Given the description of an element on the screen output the (x, y) to click on. 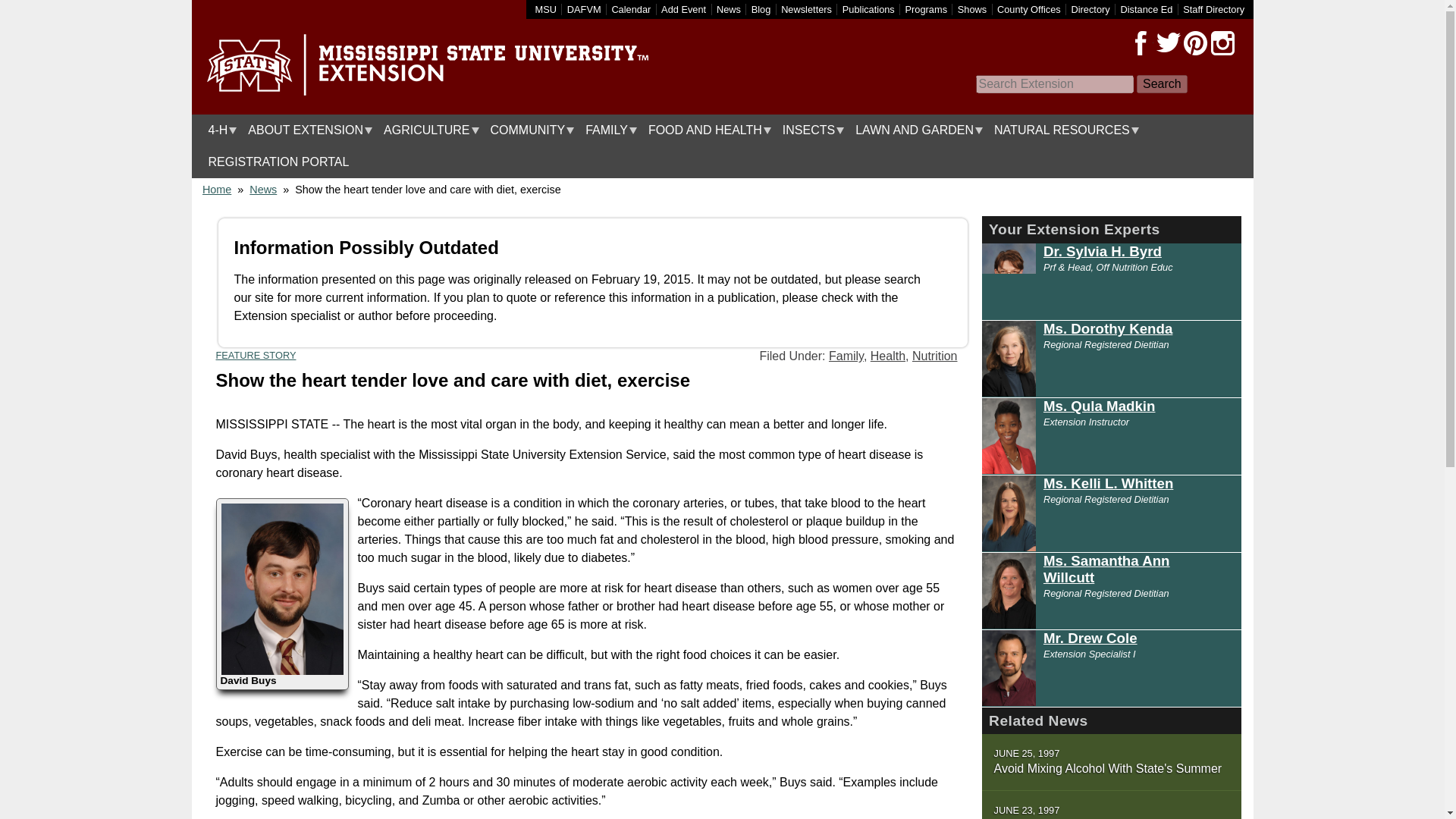
Calendar (630, 9)
Publications (869, 9)
County Offices (1029, 9)
Instagram (1221, 43)
The main event calendar for the MSU Extension Service (630, 9)
List of Extension Programs (926, 9)
DAFVM (584, 9)
Pinterest (1194, 43)
Programs (926, 9)
Find a county extension office (1029, 9)
Search (1162, 84)
Facebook (1140, 43)
Distance Ed (1145, 9)
